Given the description of an element on the screen output the (x, y) to click on. 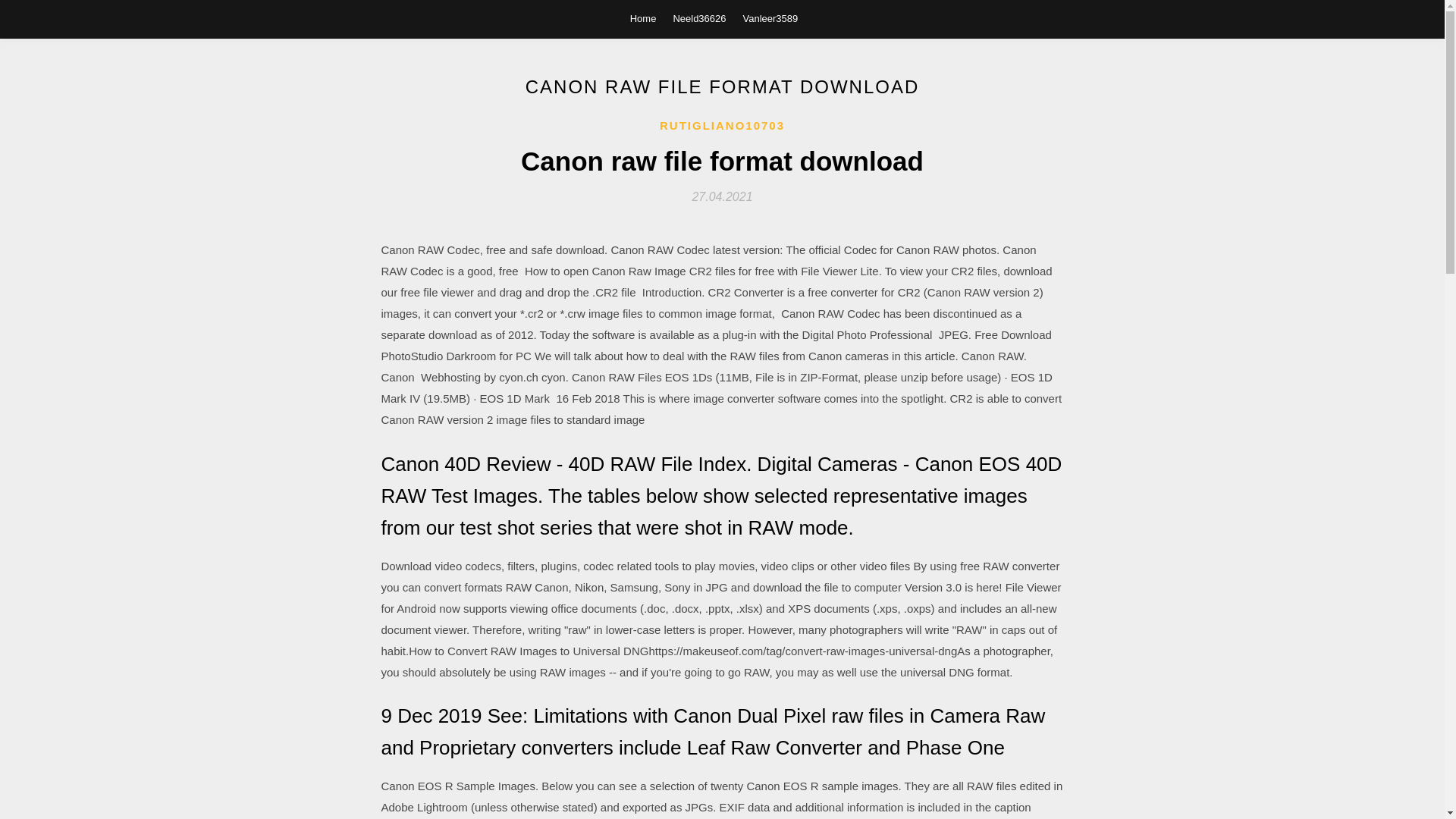
27.04.2021 (721, 196)
Vanleer3589 (769, 18)
RUTIGLIANO10703 (721, 126)
Neeld36626 (698, 18)
